Given the description of an element on the screen output the (x, y) to click on. 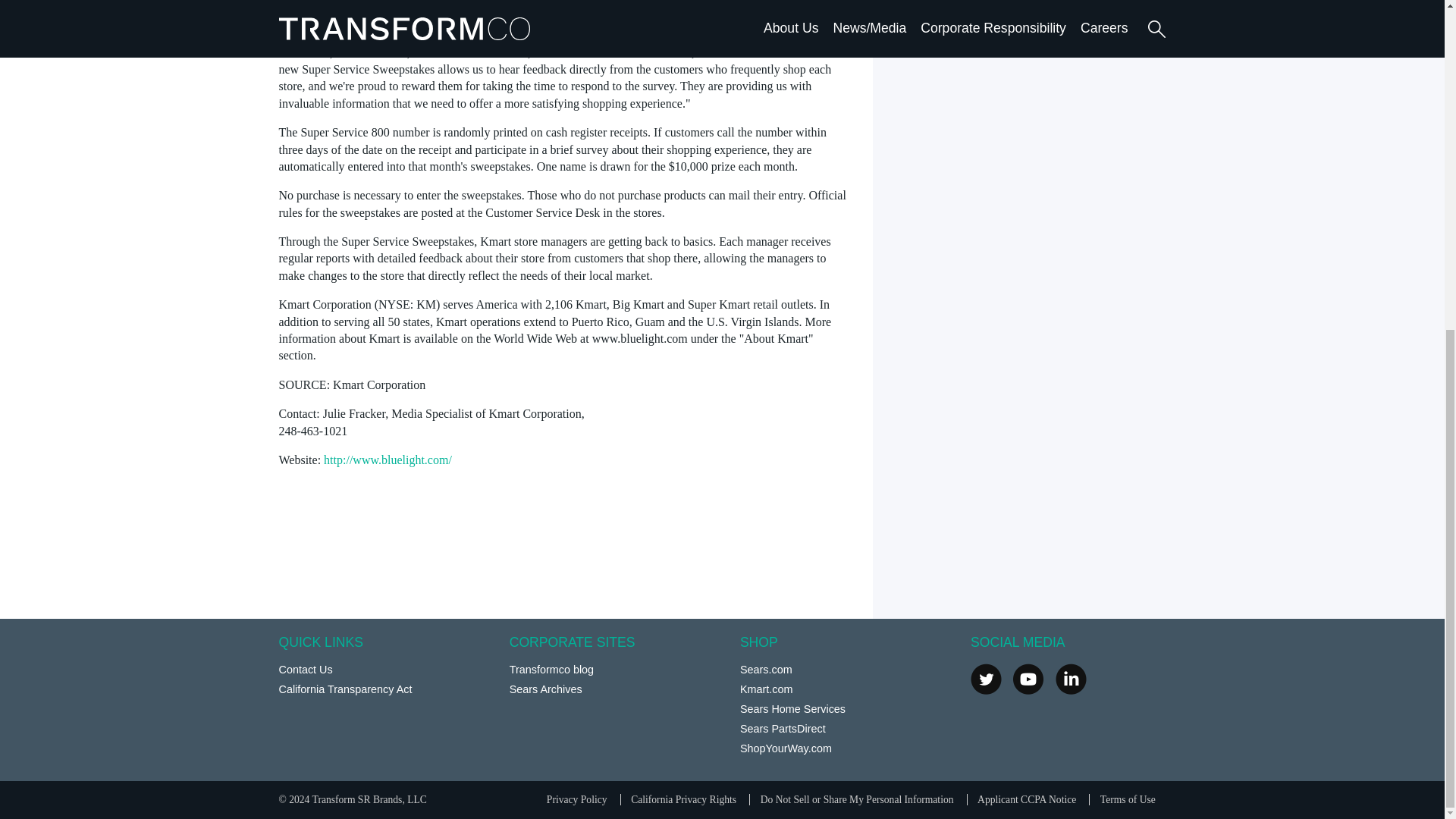
Applicant CCPA Notice (1025, 799)
Privacy Policy (577, 799)
Follow us on Twitter (986, 678)
Follow us on YouTube (1028, 678)
Terms of Use (1128, 799)
Follow us on LinkedIn (1070, 678)
California Privacy Rights (683, 799)
